Given the description of an element on the screen output the (x, y) to click on. 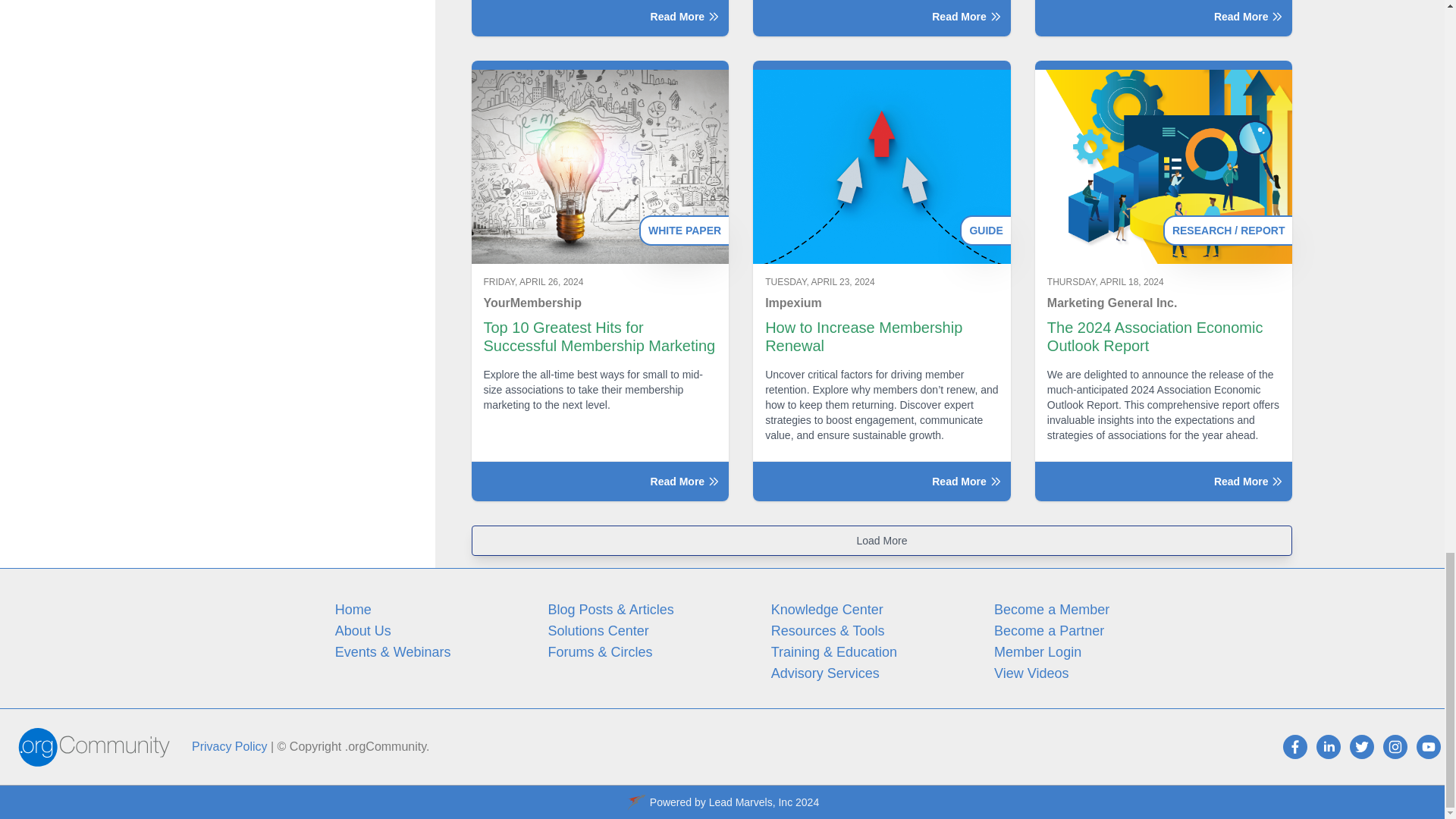
Impexium (881, 303)
YourMembership (600, 303)
Marketing General Inc. (1163, 303)
